Given the description of an element on the screen output the (x, y) to click on. 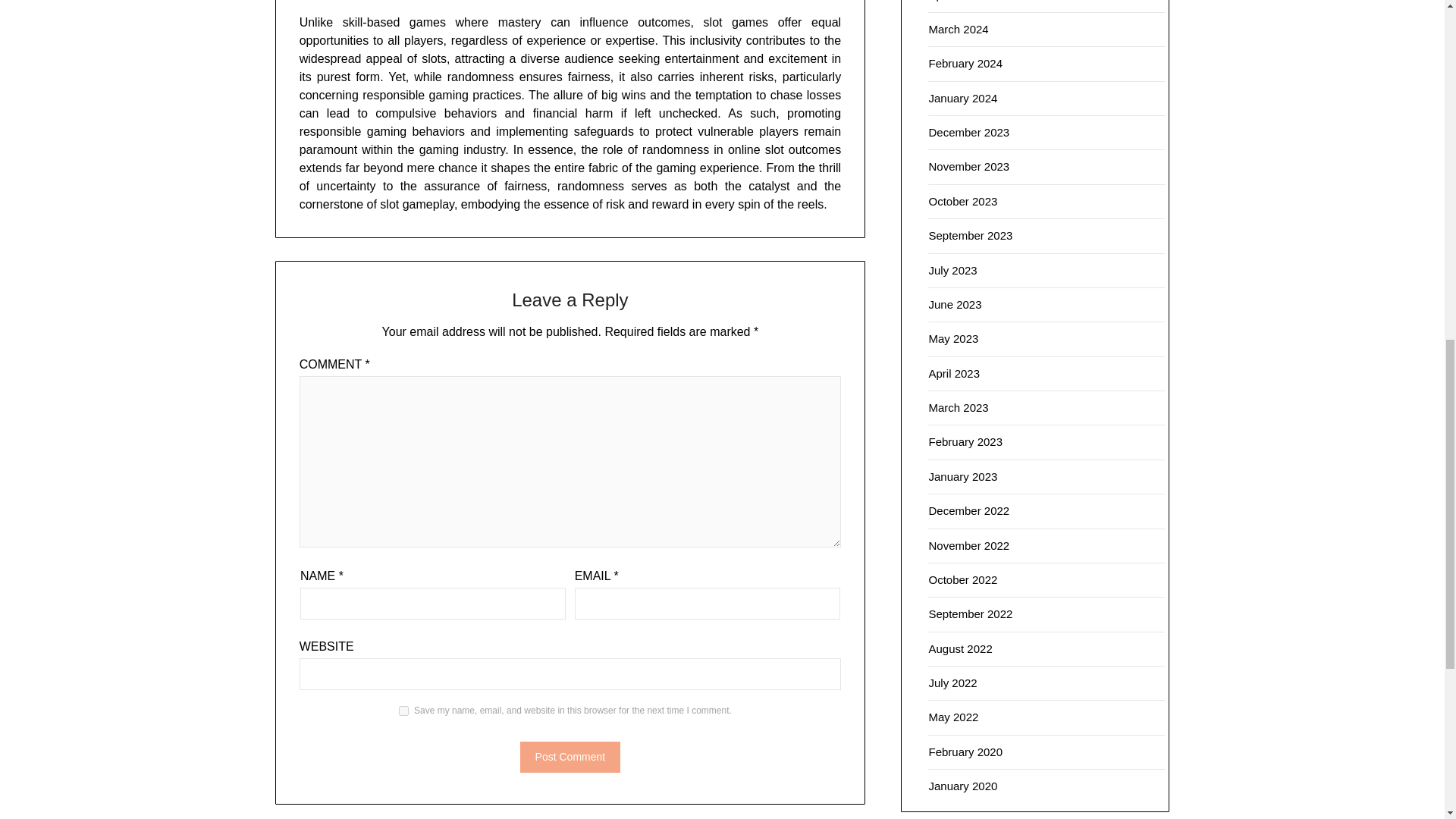
January 2023 (962, 476)
November 2023 (968, 165)
March 2023 (958, 407)
May 2023 (953, 338)
February 2024 (965, 62)
February 2023 (965, 440)
January 2024 (962, 97)
September 2023 (969, 235)
December 2023 (968, 132)
Post Comment (570, 757)
